Given the description of an element on the screen output the (x, y) to click on. 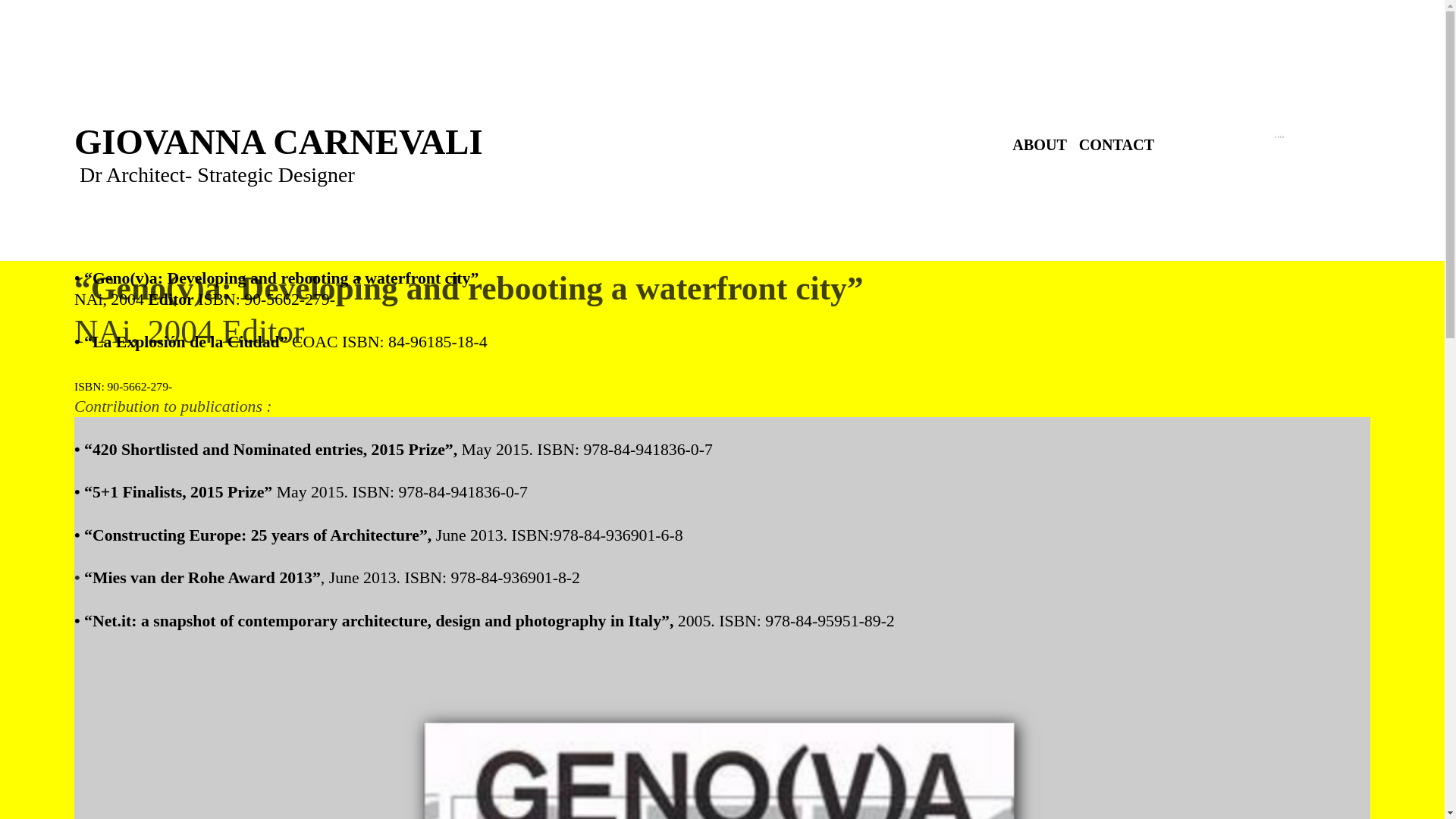
CONTACT (1116, 144)
ABOUT (1038, 144)
, June 2013. ISBN: 978-84-936901-8-2 (449, 577)
 Dr Architect- Strategic Designer  (216, 174)
GIOVANNA CARNEVALI (278, 141)
